Given the description of an element on the screen output the (x, y) to click on. 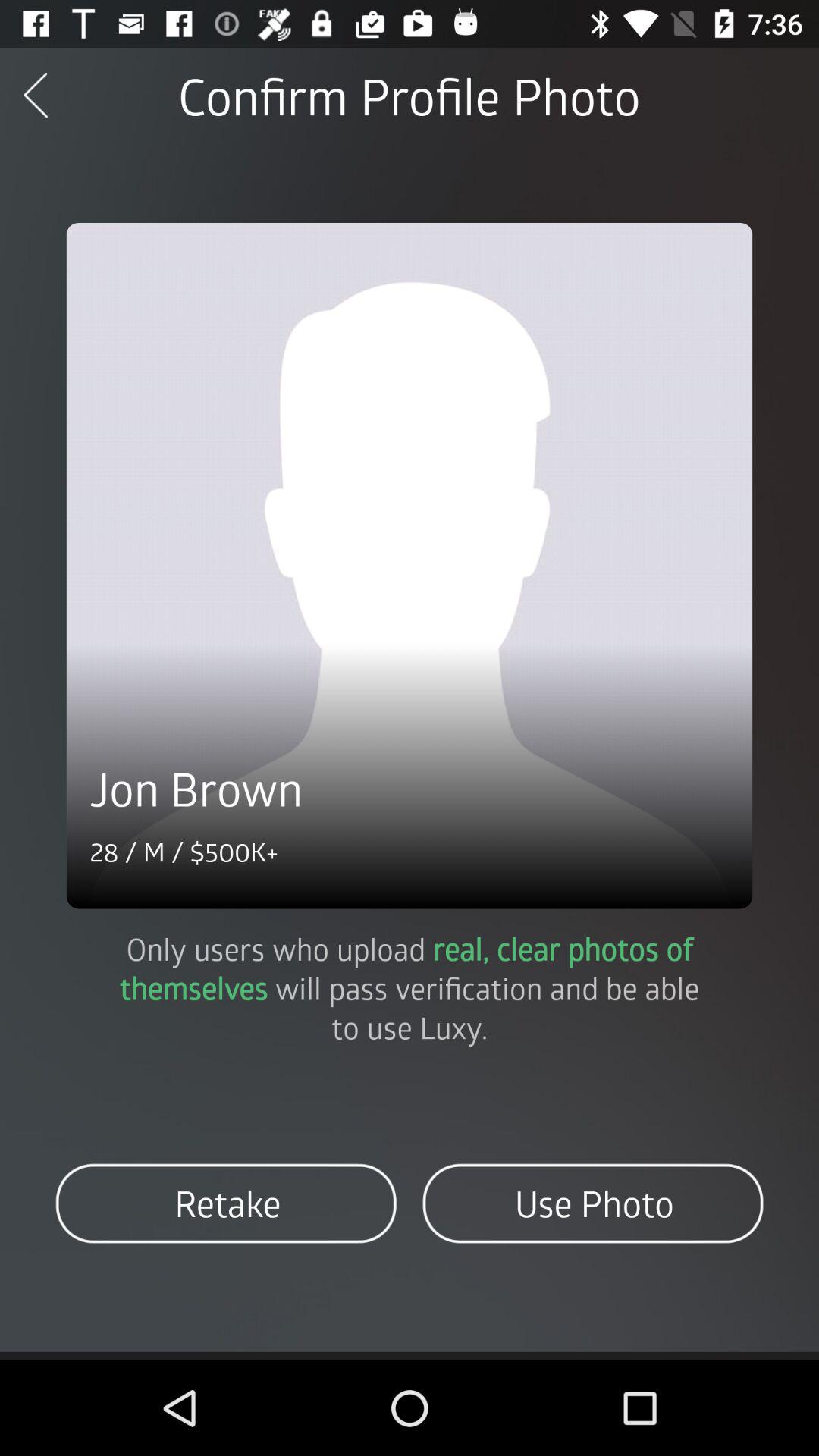
launch the icon above retake icon (409, 987)
